Given the description of an element on the screen output the (x, y) to click on. 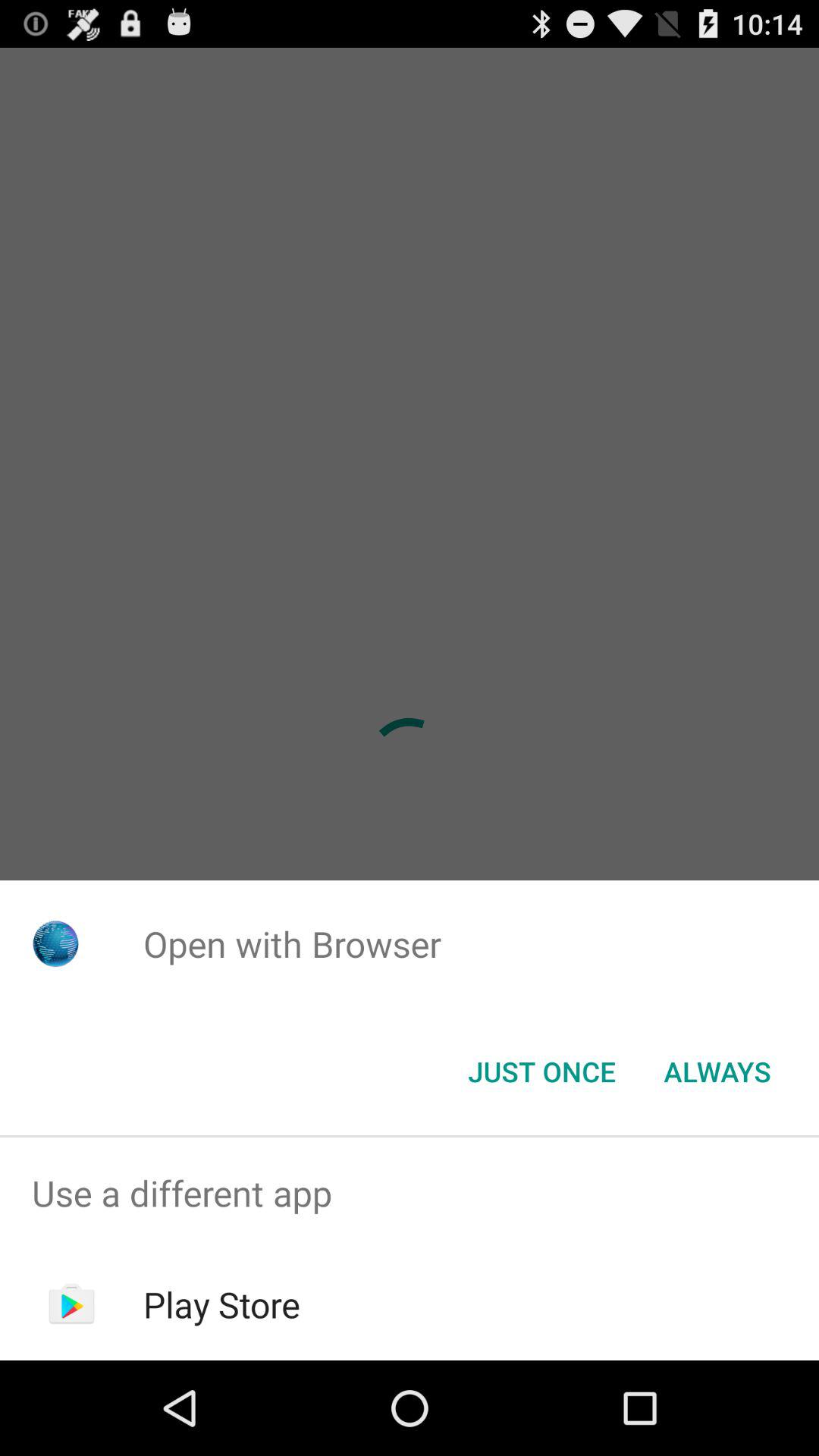
turn off the icon above the play store (409, 1192)
